Given the description of an element on the screen output the (x, y) to click on. 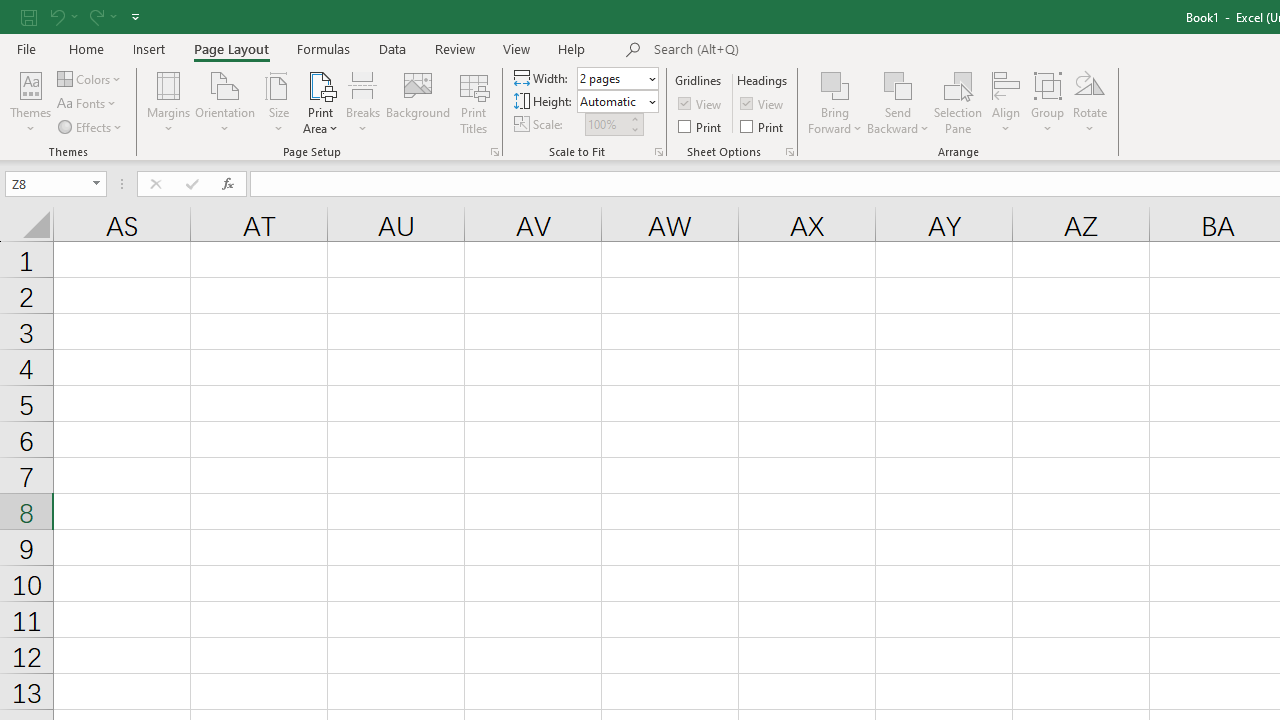
Rotate (1089, 102)
Background... (418, 102)
Print (763, 126)
Send Backward (898, 102)
Fonts (87, 103)
Margins (168, 102)
